Given the description of an element on the screen output the (x, y) to click on. 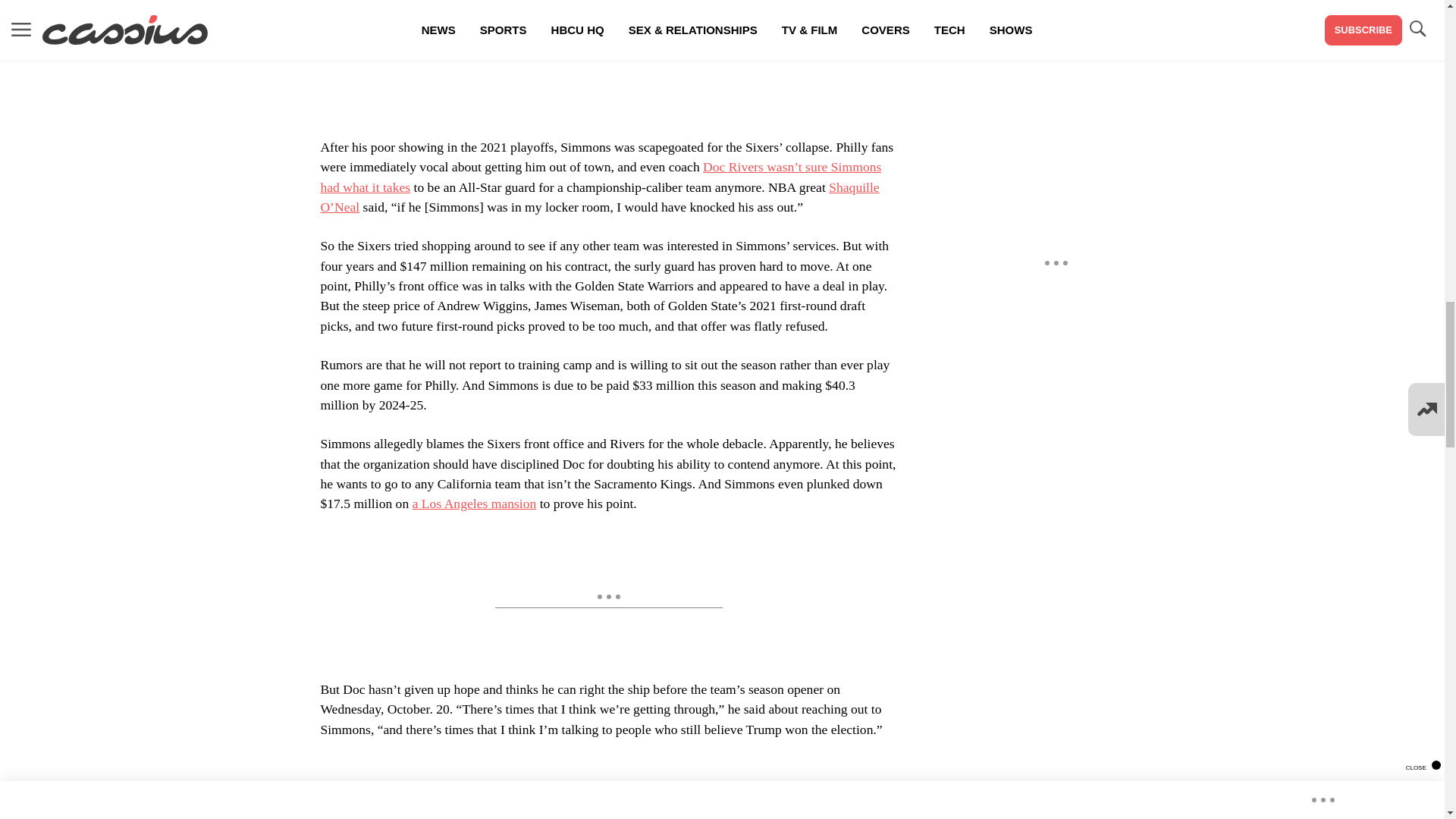
Embedded video (607, 788)
a Los Angeles mansion (474, 503)
